Given the description of an element on the screen output the (x, y) to click on. 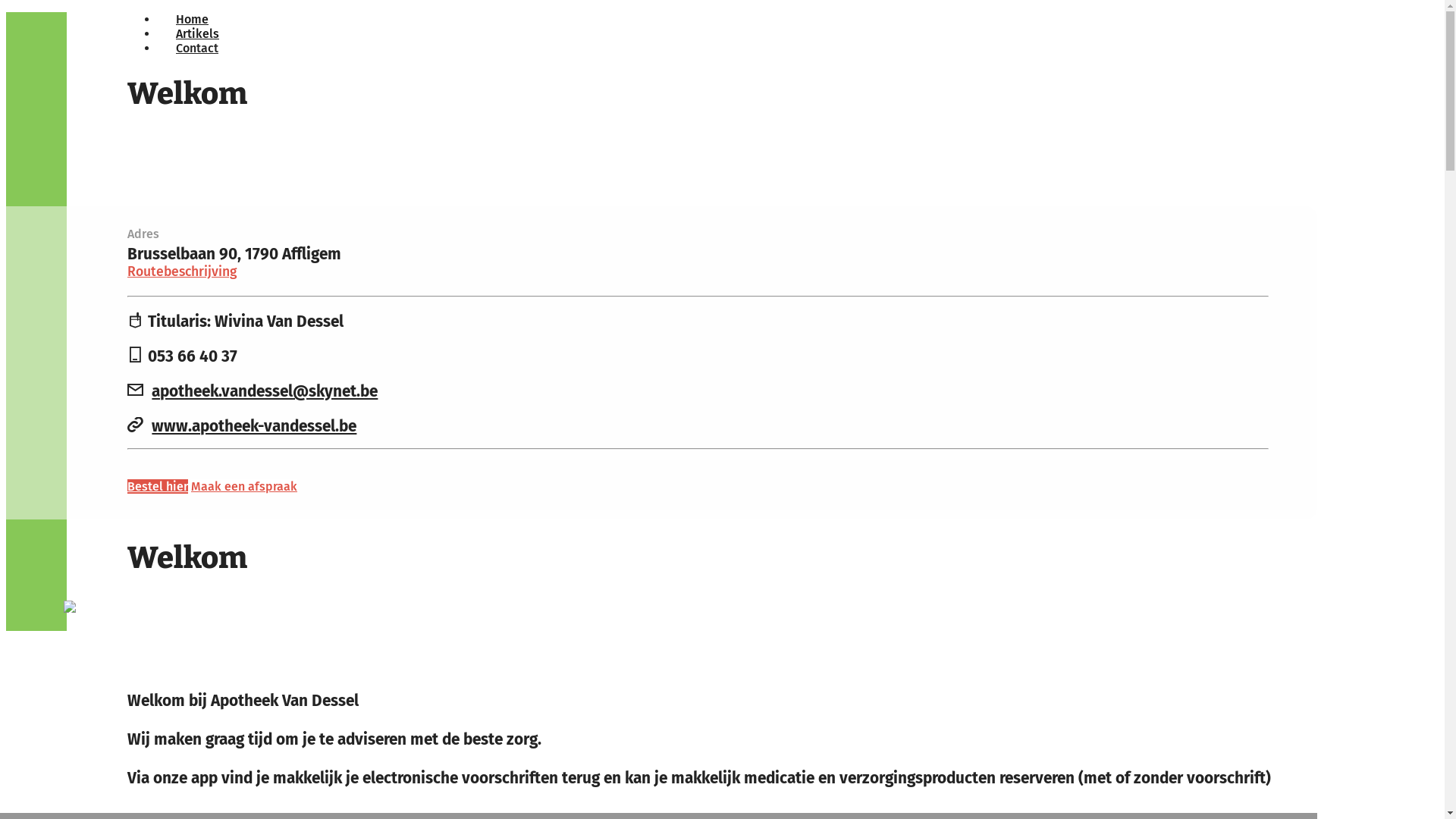
Artikels Element type: text (197, 33)
Contact Element type: text (196, 47)
apotheek.vandessel@skynet.be Element type: text (264, 391)
Home Element type: text (191, 19)
Bestel hier Element type: text (157, 486)
Routebeschrijving Element type: text (181, 271)
www.apotheek-vandessel.be Element type: text (253, 426)
Maak een afspraak Element type: text (244, 486)
